Given the description of an element on the screen output the (x, y) to click on. 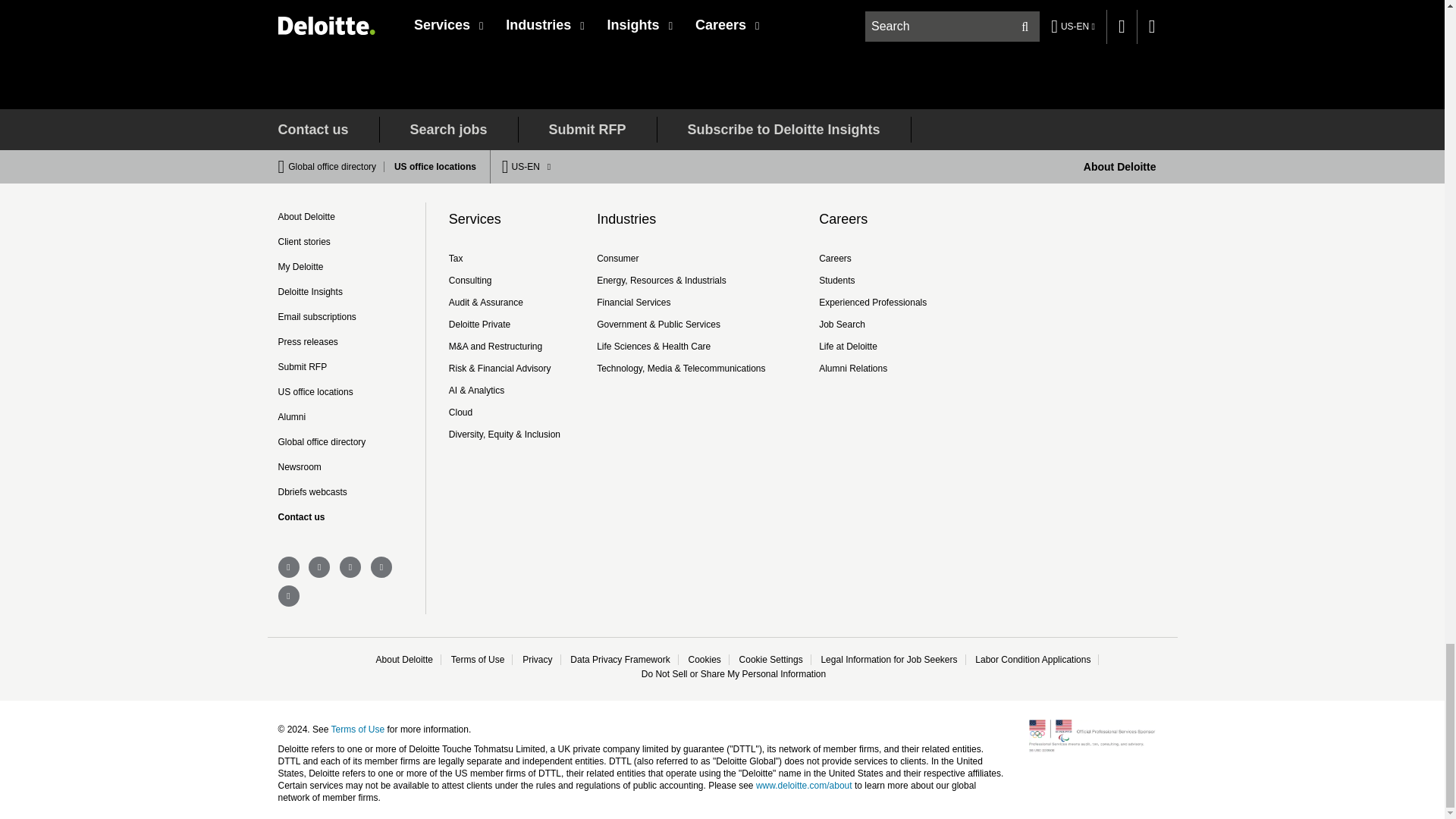
view deloitte us on youtube (350, 567)
connect with deloitte on linkedin (319, 567)
follow deloitte us on twitter (288, 567)
US office locations (431, 166)
About Deloitte (1119, 166)
Global office directory (336, 166)
